Given the description of an element on the screen output the (x, y) to click on. 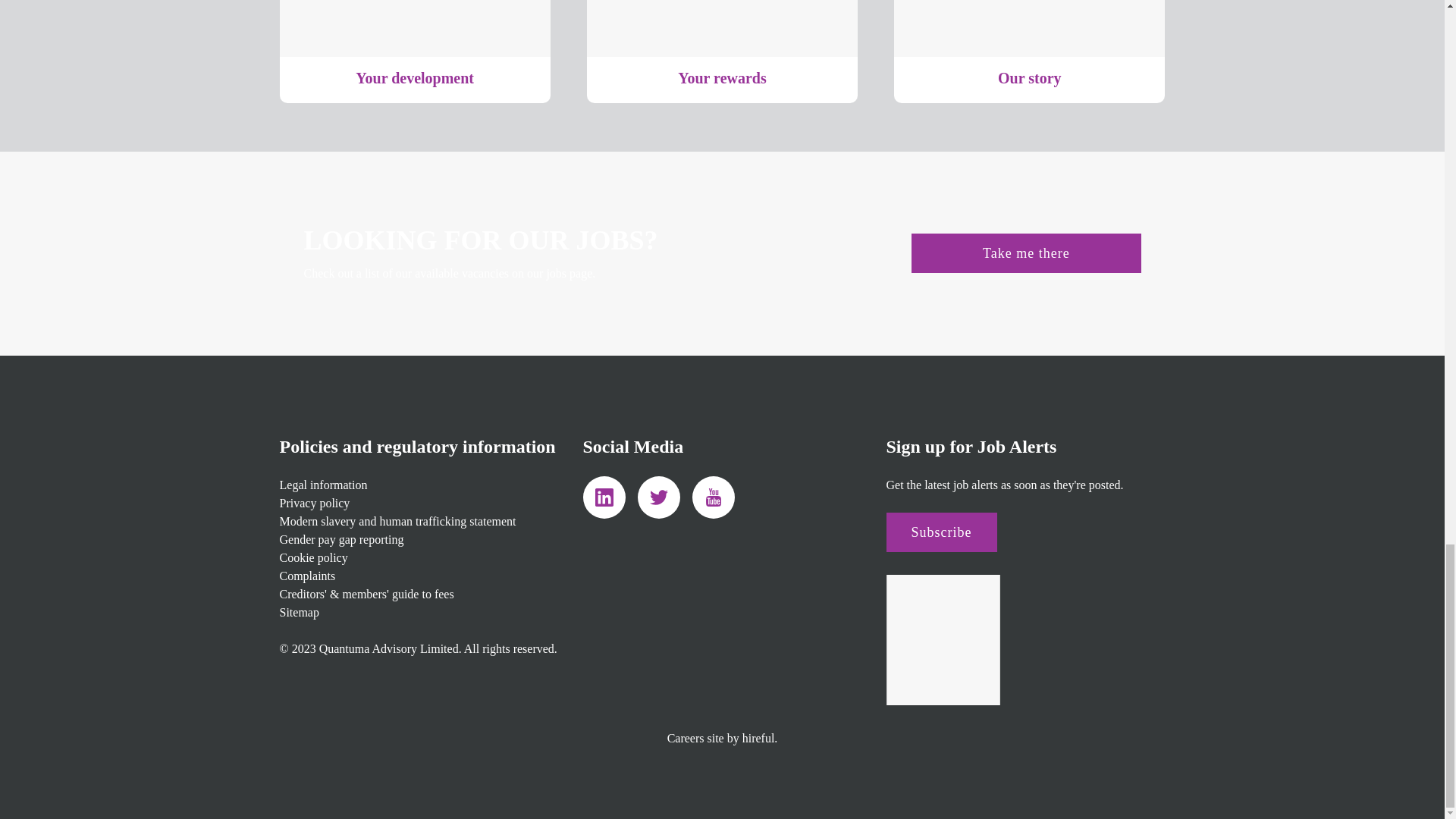
Sitemap (298, 612)
Subscribe (940, 532)
Cookie policy (313, 557)
Privacy policy (314, 502)
Take me there (1025, 252)
hireful (758, 738)
Our story (1028, 51)
Gender pay gap reporting (341, 539)
Complaints (306, 575)
Your development (414, 51)
